Given the description of an element on the screen output the (x, y) to click on. 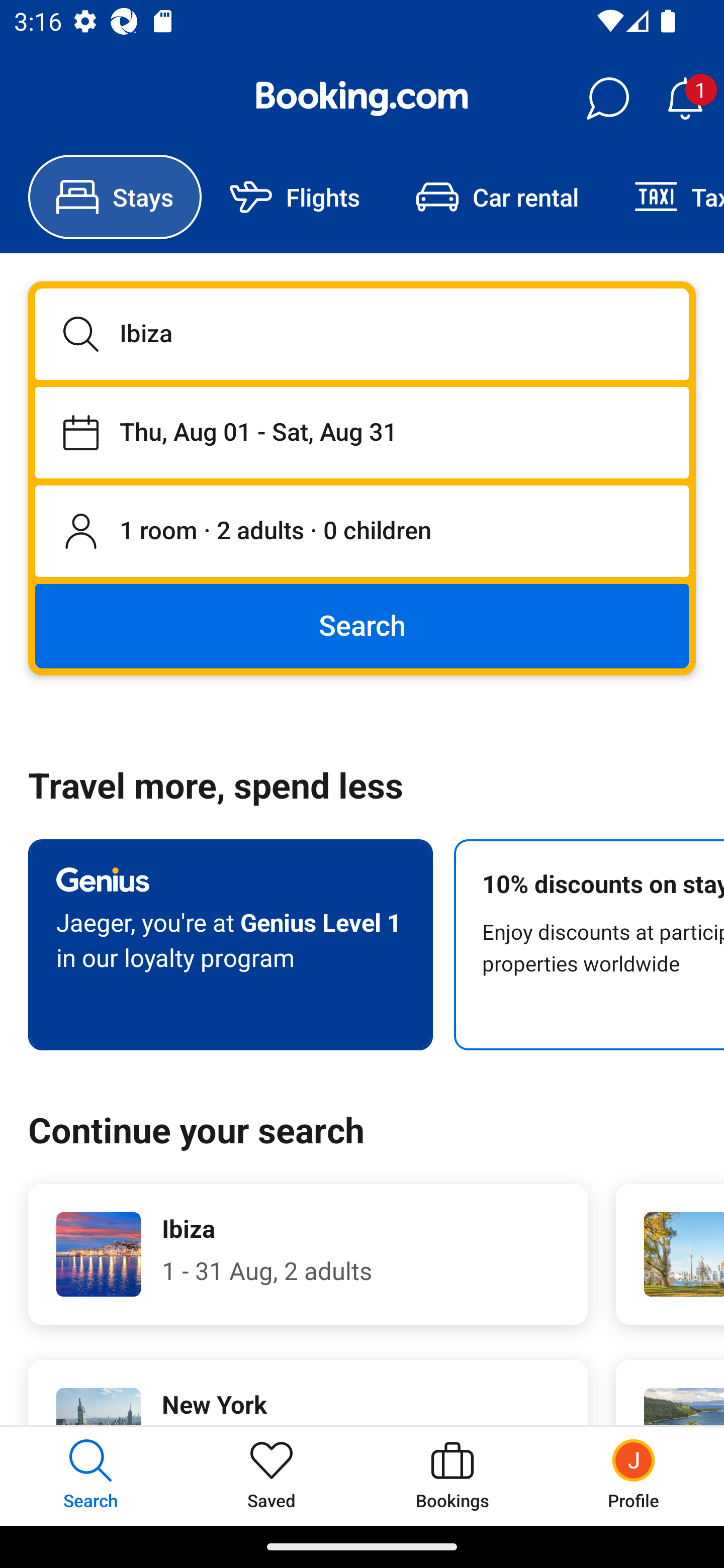
Messages (607, 98)
Notifications (685, 98)
Stays (114, 197)
Flights (294, 197)
Car rental (497, 197)
Taxi (665, 197)
Ibiza (361, 333)
Staying from Thu, Aug 01 until Sat, Aug 31 (361, 432)
1 room, 2 adults, 0 children (361, 531)
Search (361, 625)
Ibiza 1 - 31 Aug, 2 adults (307, 1253)
Saved (271, 1475)
Bookings (452, 1475)
Profile (633, 1475)
